Given the description of an element on the screen output the (x, y) to click on. 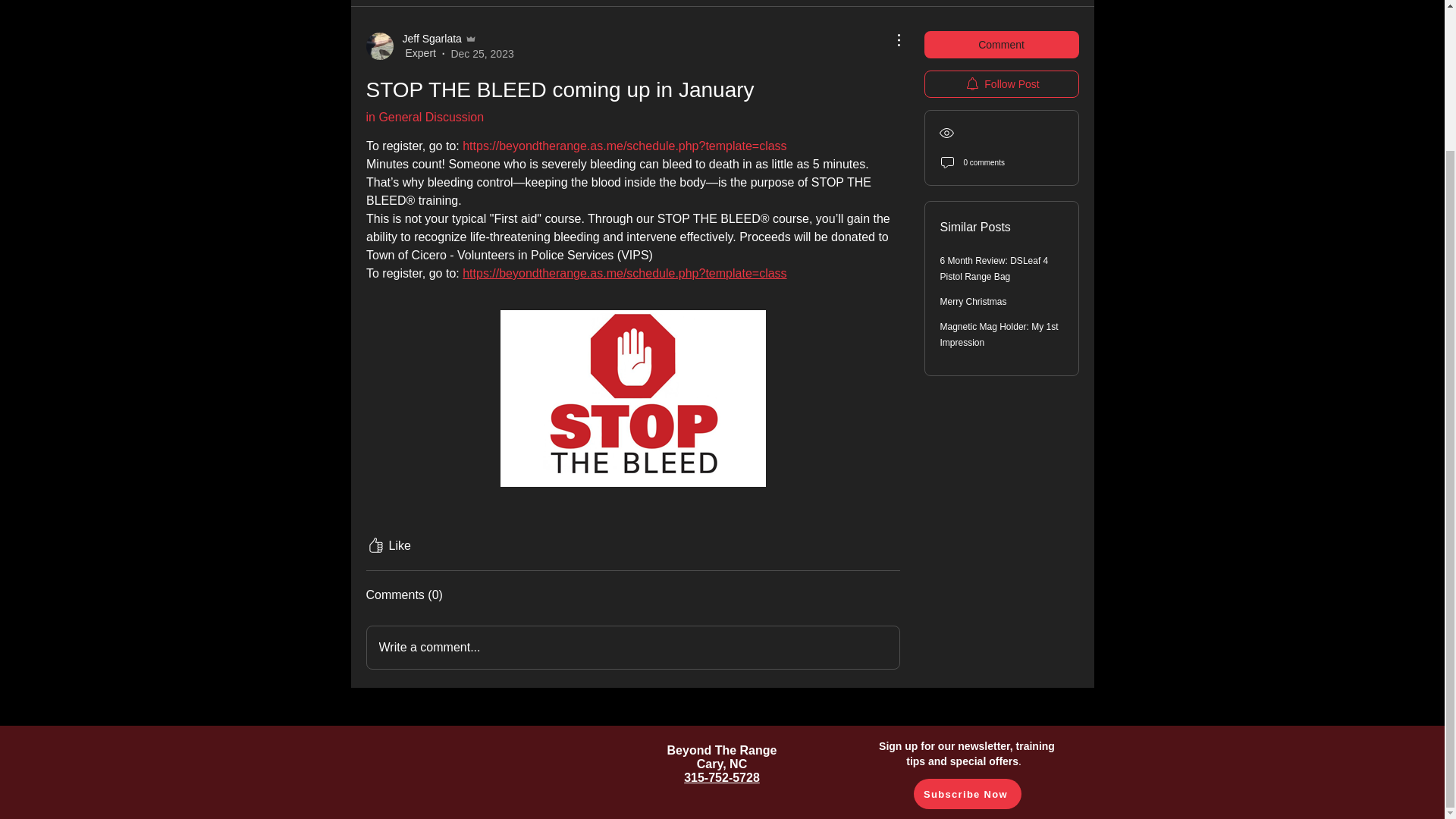
6 Month Review: DSLeaf 4 Pistol Range Bag (994, 268)
Like (387, 546)
Comment (1000, 44)
Write a comment... (632, 647)
in General Discussion (424, 116)
Subscribe Now (966, 793)
Merry Christmas (973, 301)
Magnetic Mag Holder: My 1st Impression (999, 334)
Follow Post (1000, 83)
315-752-5728 (722, 777)
